Given the description of an element on the screen output the (x, y) to click on. 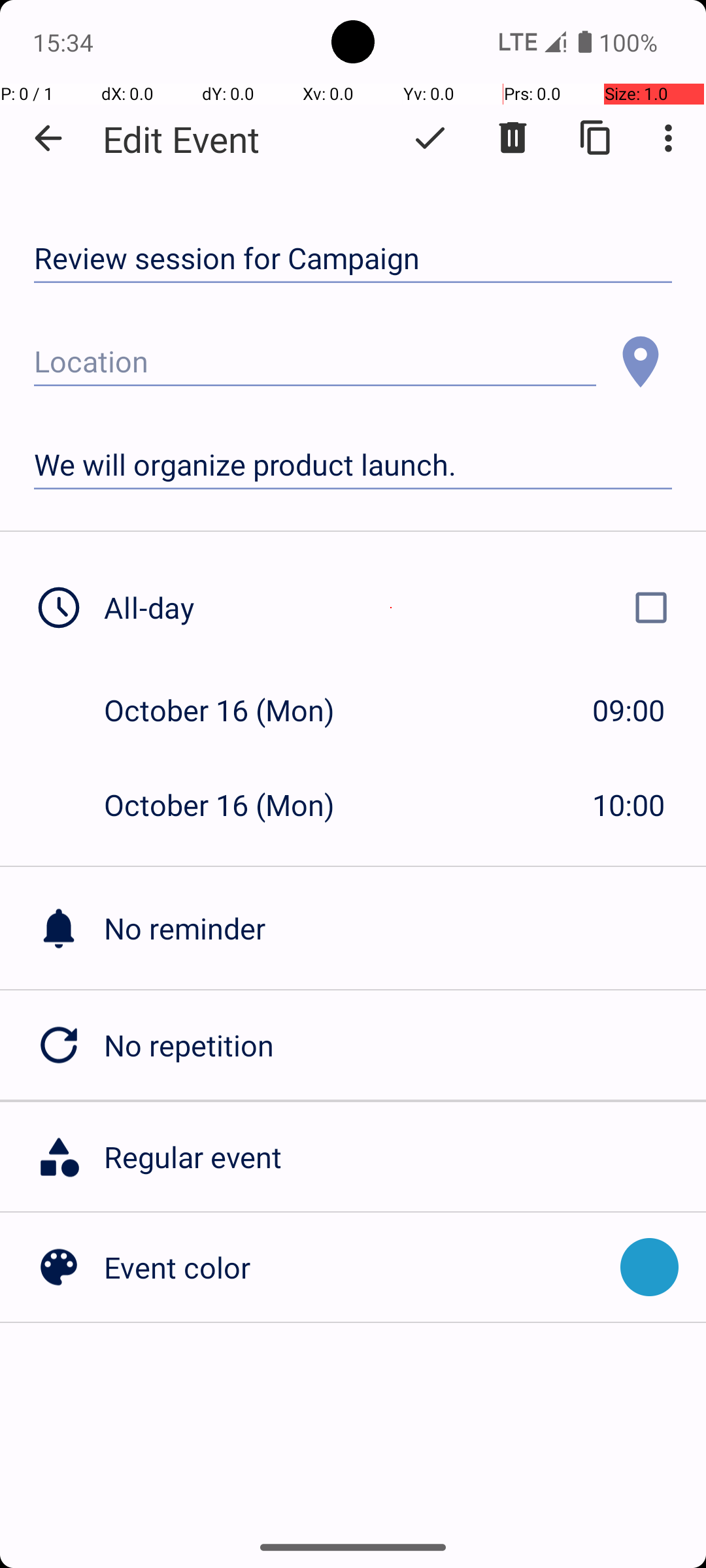
We will organize product launch. Element type: android.widget.EditText (352, 465)
